Given the description of an element on the screen output the (x, y) to click on. 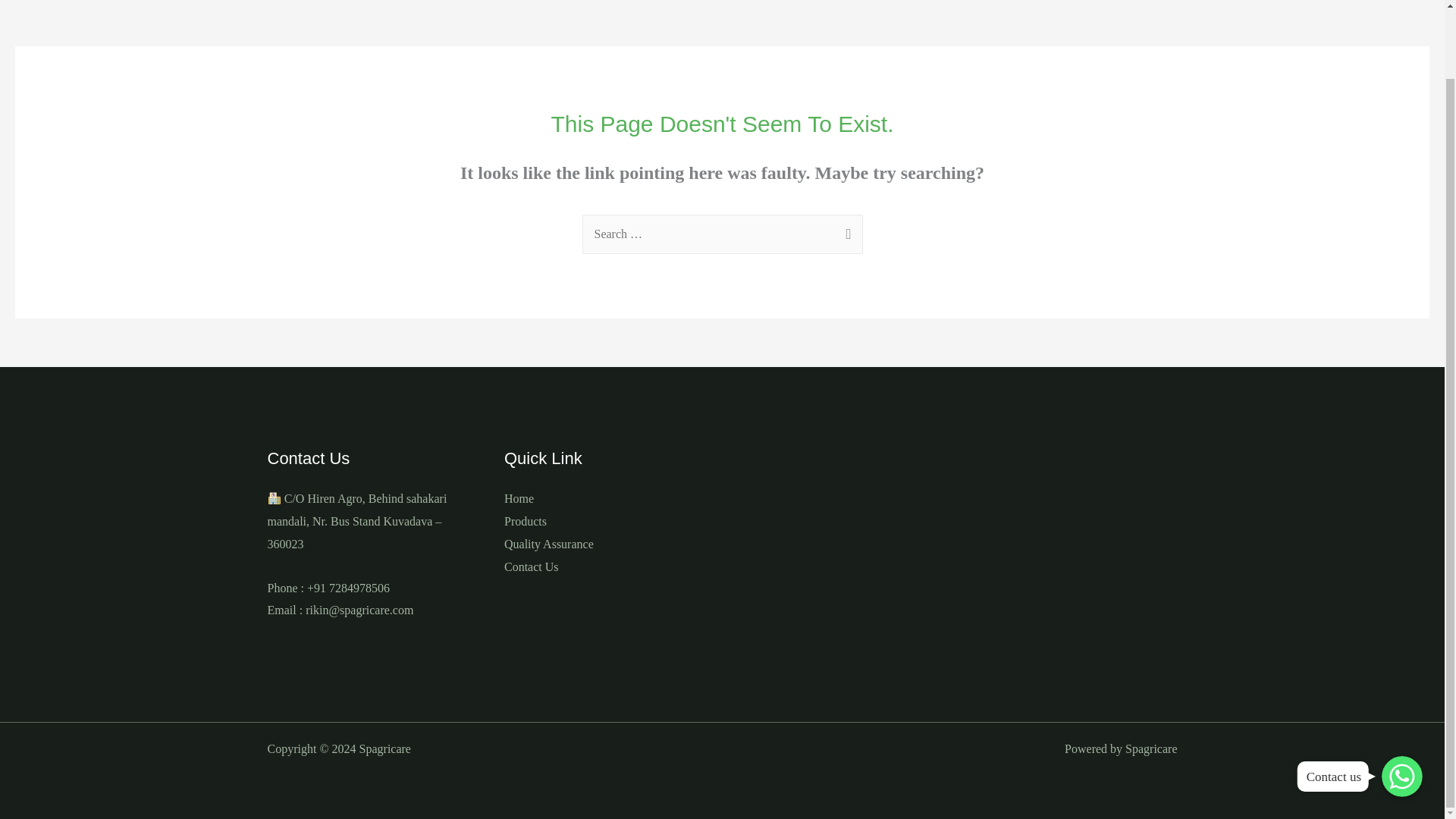
Home (518, 498)
WhatsApp (1401, 700)
Quality Assurance (548, 543)
Contact Us (531, 566)
Products (525, 521)
